Given the description of an element on the screen output the (x, y) to click on. 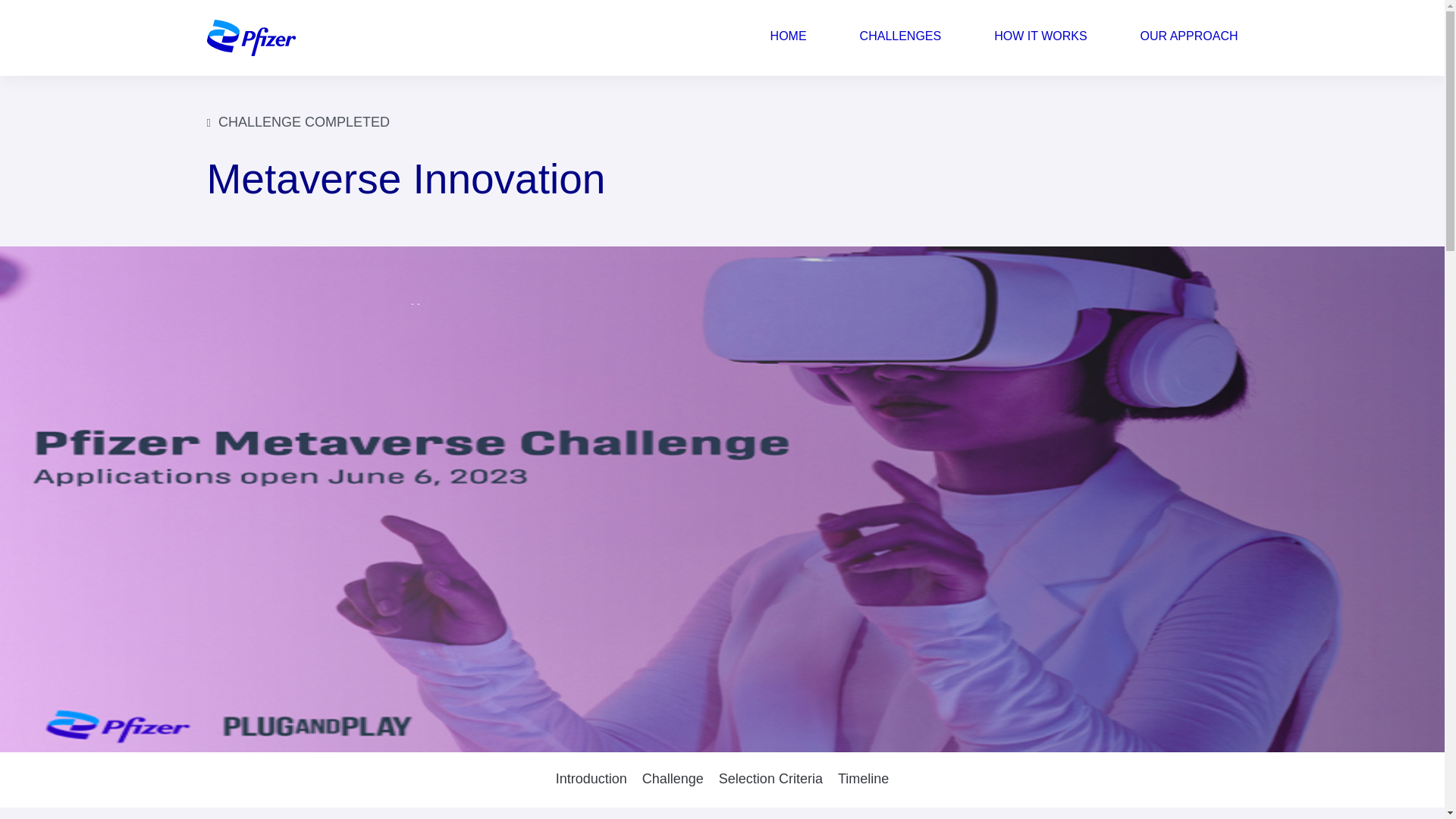
Challenge (672, 779)
Selection Criteria (770, 779)
HOW IT WORKS (1040, 37)
OUR APPROACH (1189, 37)
Digital Accelarator (250, 37)
Introduction (591, 779)
Timeline (862, 779)
CHALLENGES (900, 37)
HOME (788, 37)
